Given the description of an element on the screen output the (x, y) to click on. 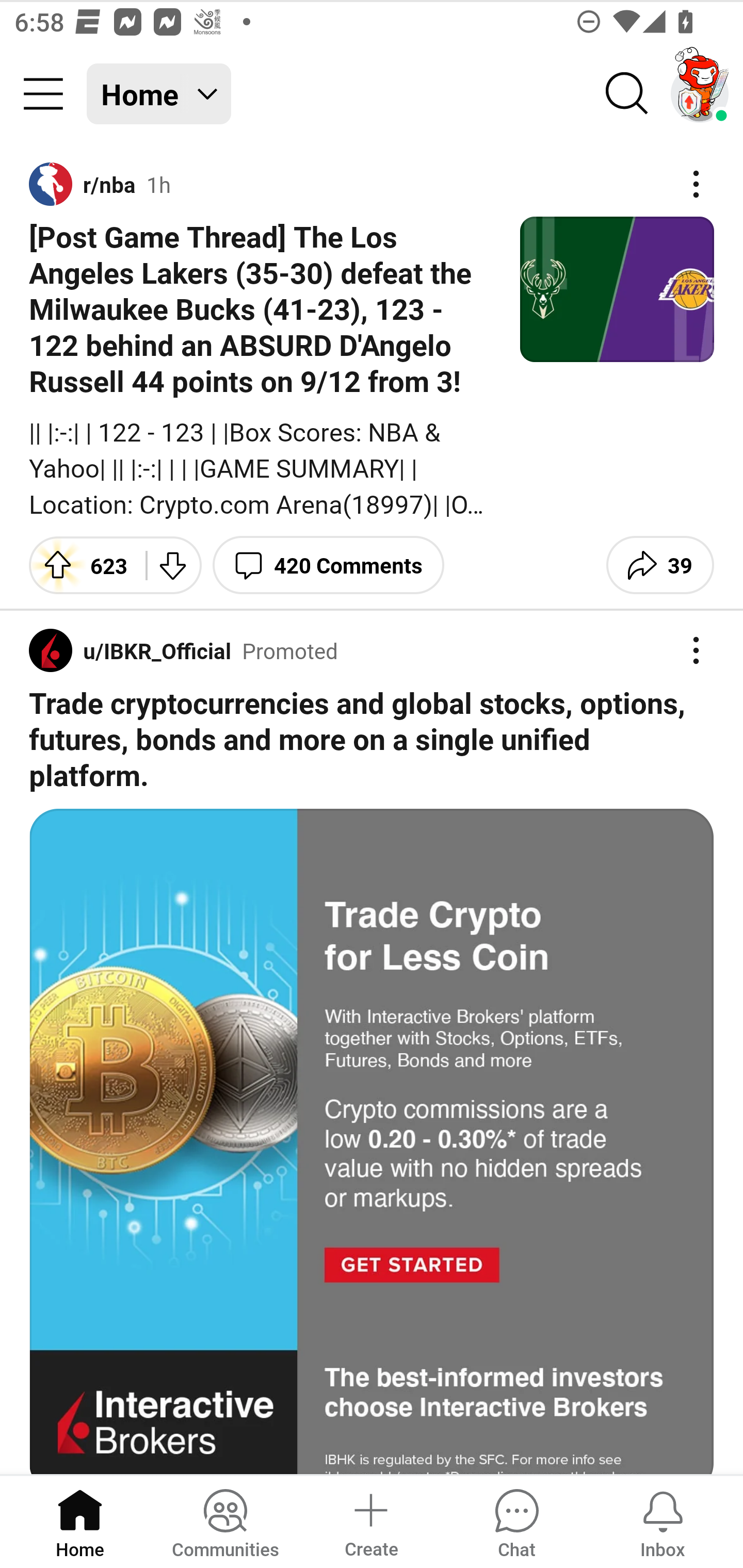
Community menu (43, 93)
Home Home feed (158, 93)
Search (626, 93)
TestAppium002 account (699, 93)
Home (80, 1520)
Communities (225, 1520)
Create a post Create (370, 1520)
Chat (516, 1520)
Inbox (662, 1520)
